Given the description of an element on the screen output the (x, y) to click on. 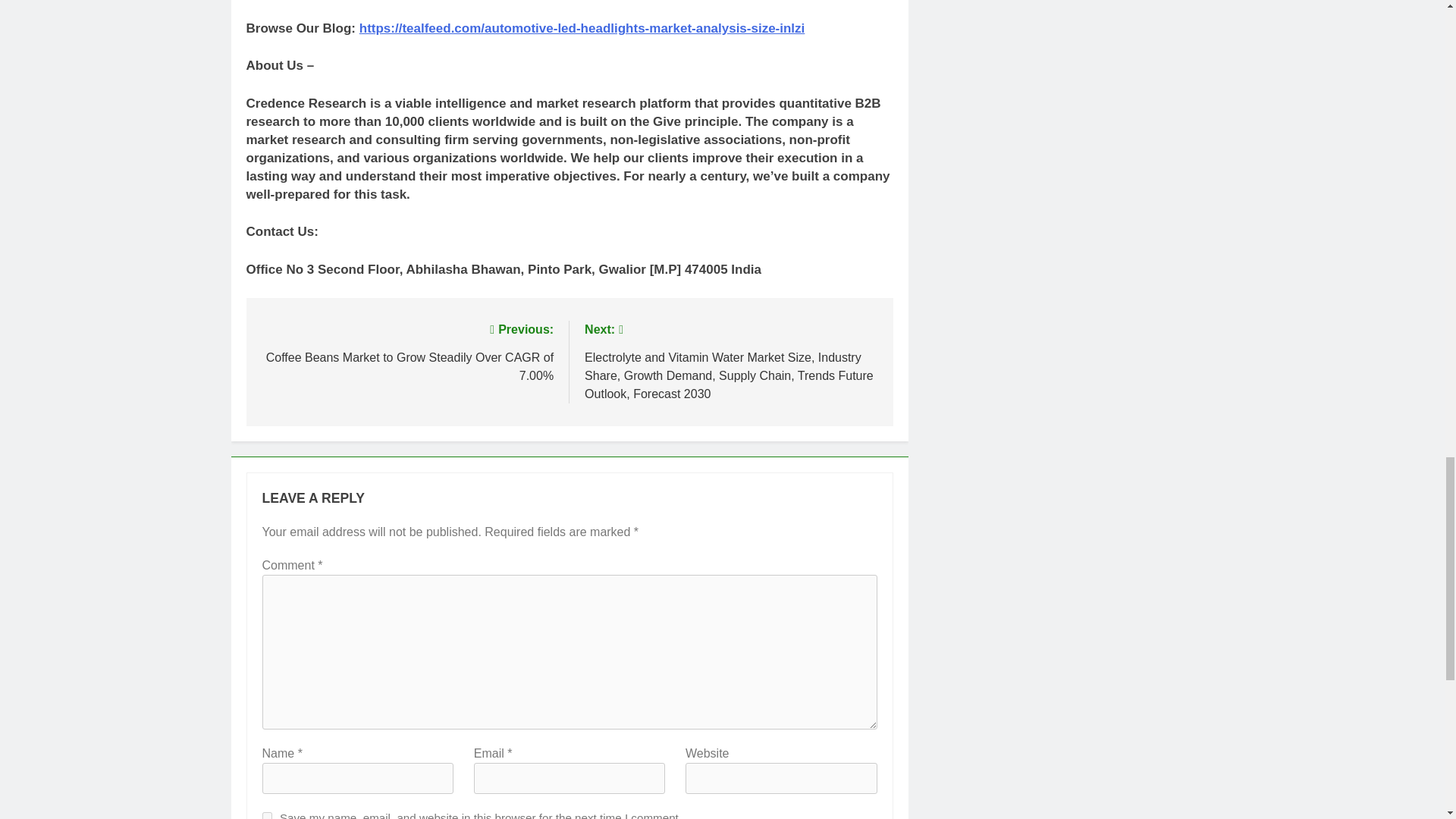
yes (267, 815)
